Given the description of an element on the screen output the (x, y) to click on. 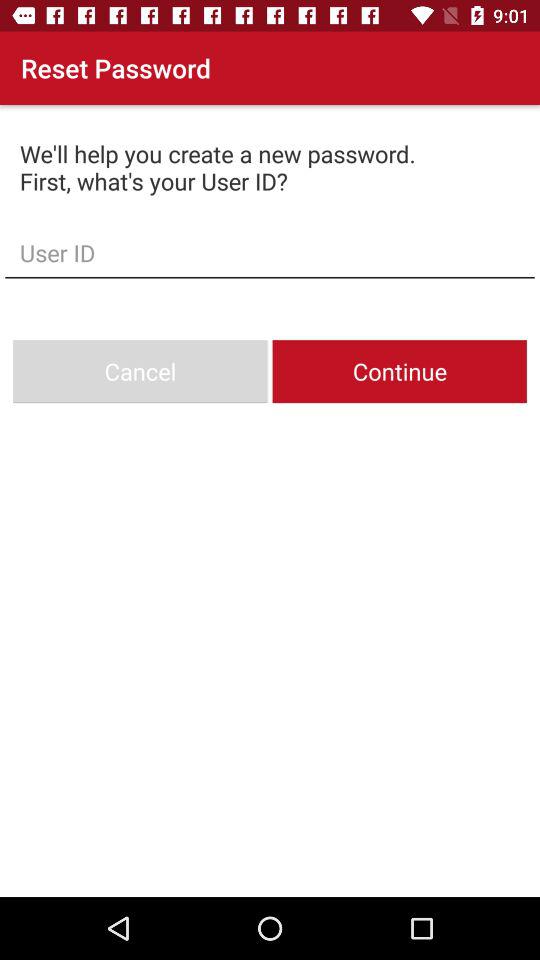
enter the user id box (270, 252)
